Given the description of an element on the screen output the (x, y) to click on. 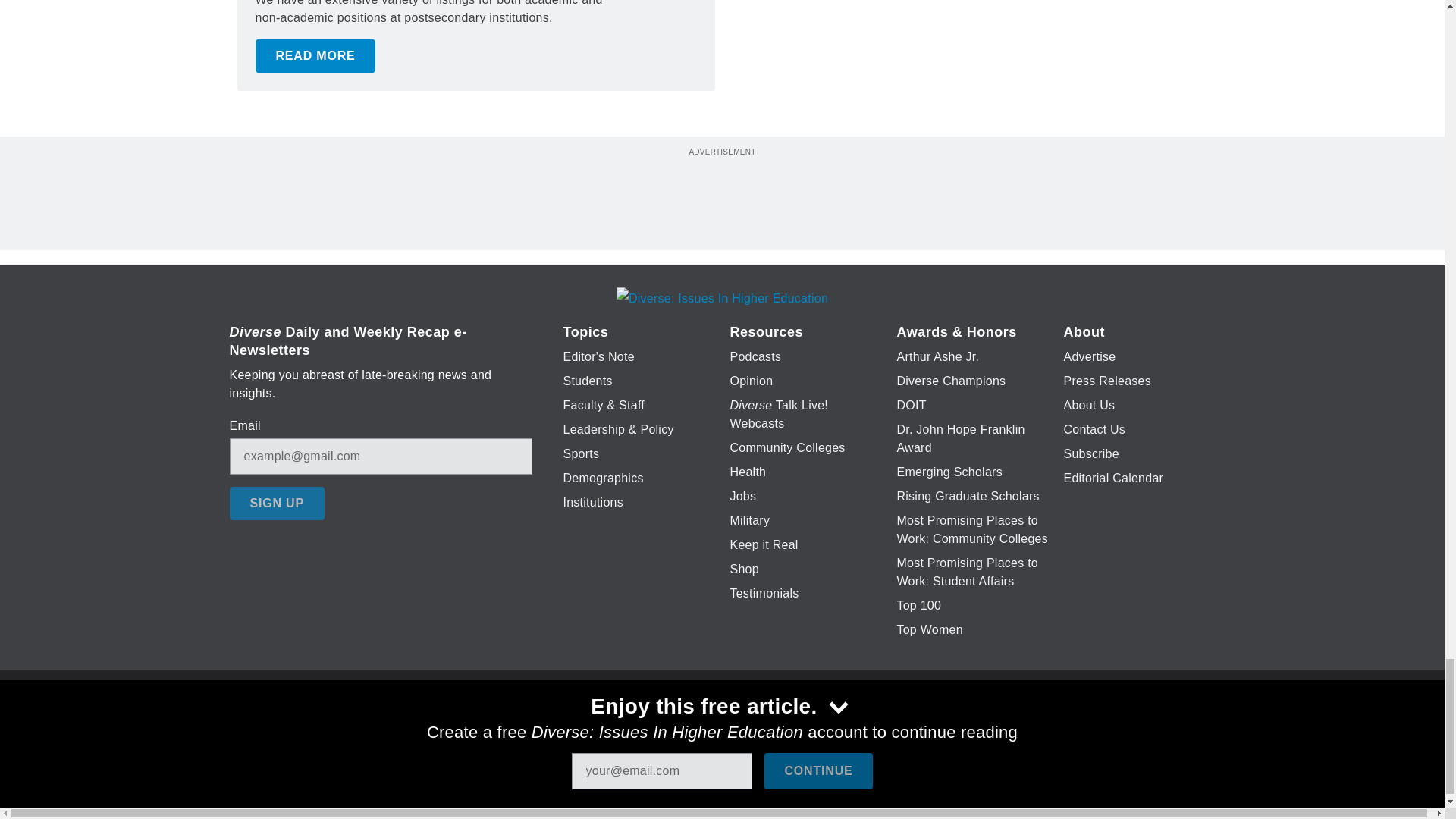
LinkedIn icon (718, 727)
Facebook icon (635, 727)
YouTube icon (757, 727)
Twitter X icon (674, 727)
Instagram icon (796, 727)
